Given the description of an element on the screen output the (x, y) to click on. 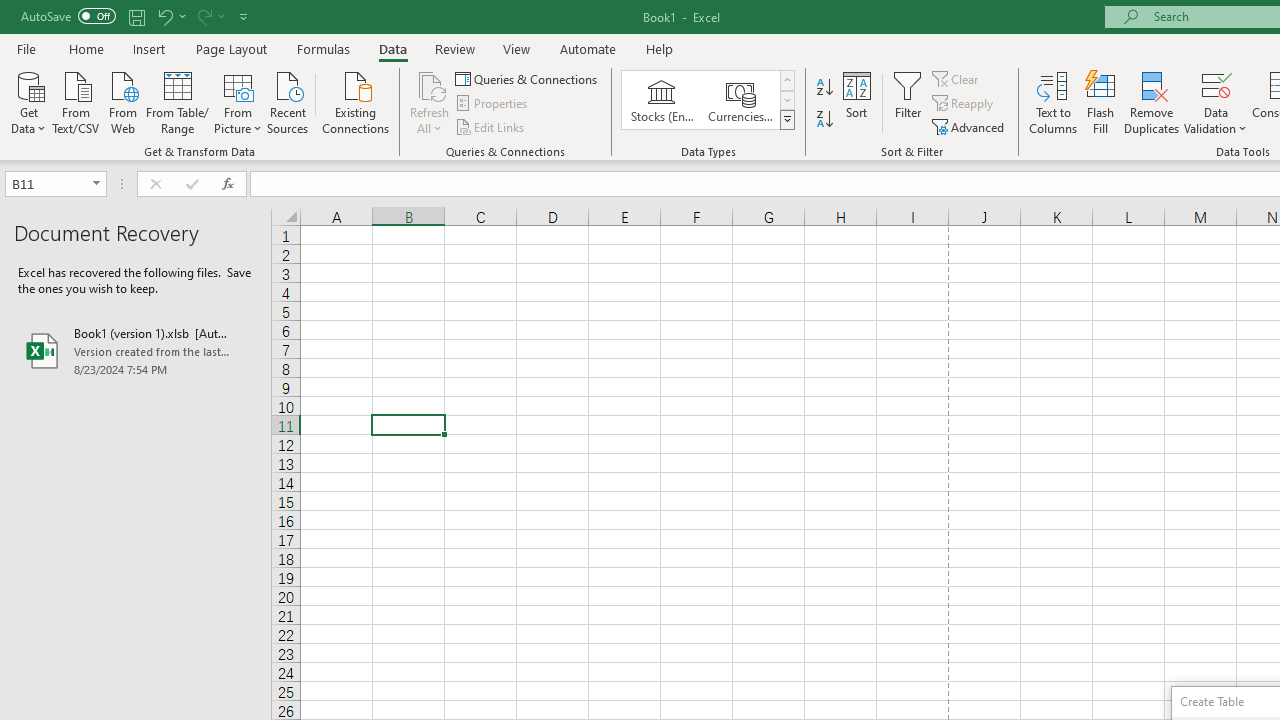
Reapply (964, 103)
From Web (122, 101)
Refresh All (429, 84)
Text to Columns... (1053, 102)
Class: NetUIImage (787, 119)
Remove Duplicates (1151, 102)
Advanced... (970, 126)
Automate (588, 48)
Recent Sources (287, 101)
